Given the description of an element on the screen output the (x, y) to click on. 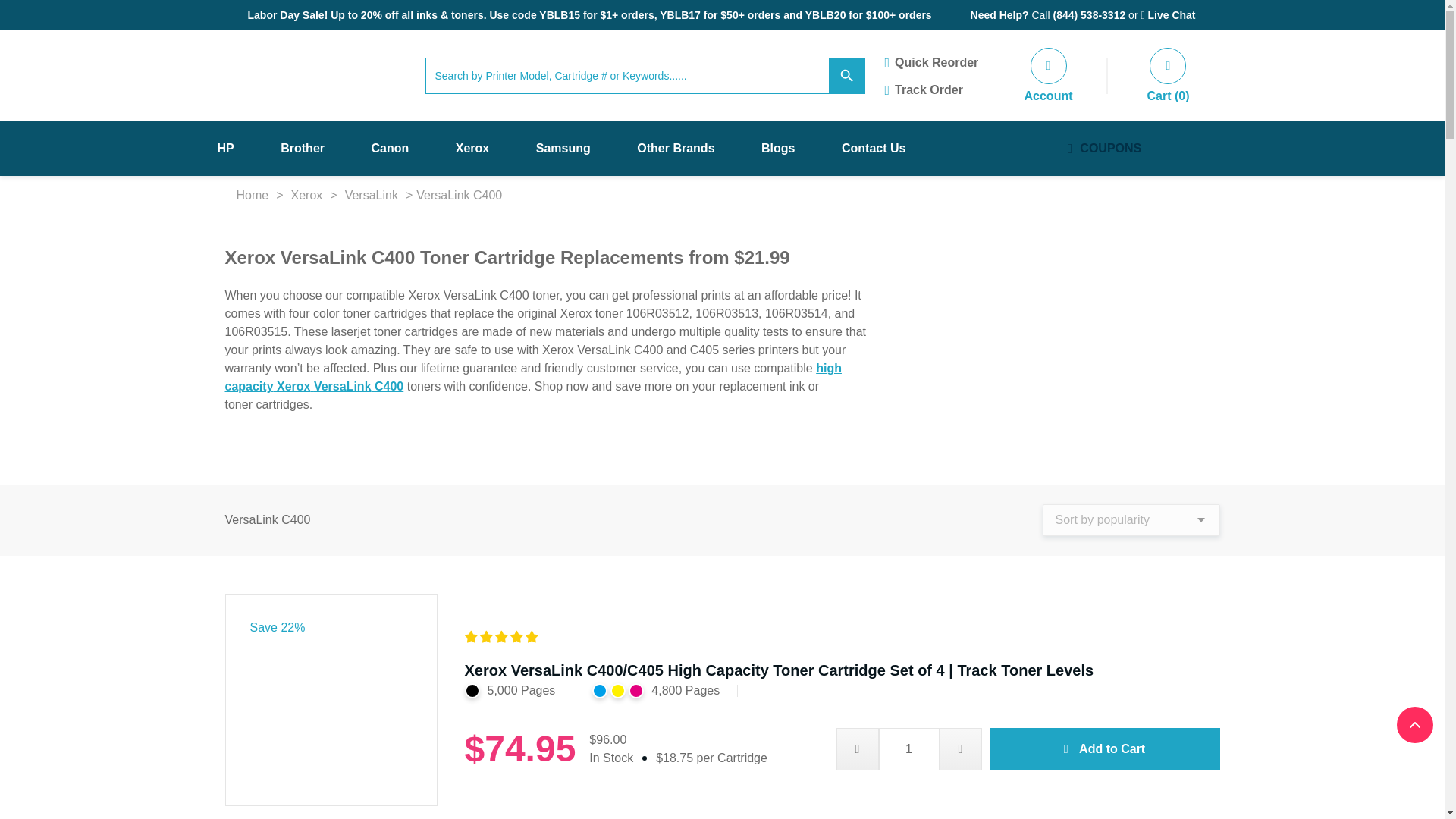
Contact Us (873, 148)
Canon (390, 148)
Live Chat (1171, 15)
Samsung (563, 148)
Add to Cart (1104, 749)
VersaLink (370, 195)
HP (224, 148)
Quick Reorder (953, 62)
Blogs (777, 148)
Home (251, 195)
